Given the description of an element on the screen output the (x, y) to click on. 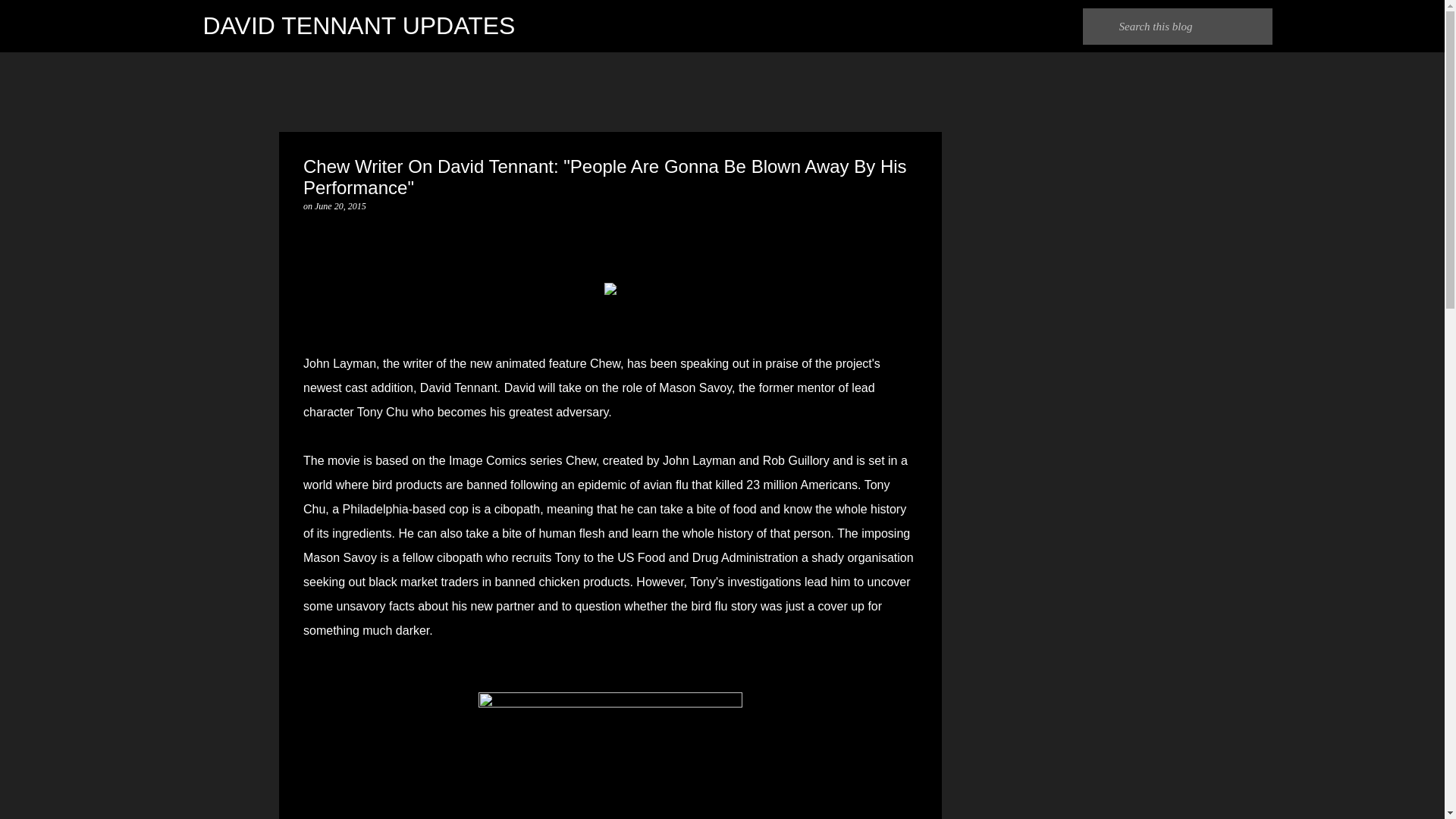
June 20, 2015 (340, 205)
DAVID TENNANT UPDATES (359, 25)
permanent link (340, 205)
